Given the description of an element on the screen output the (x, y) to click on. 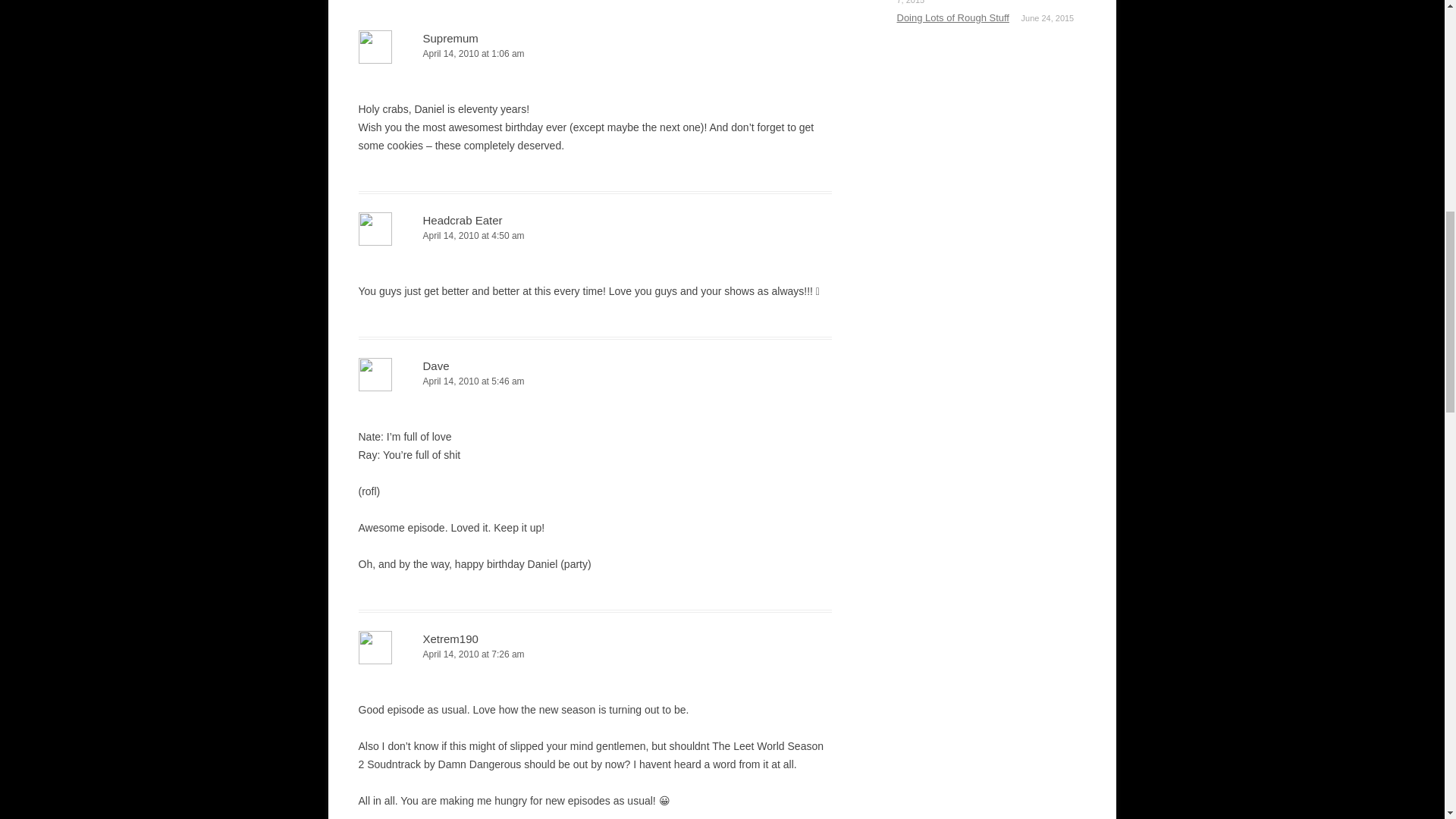
April 14, 2010 at 7:26 am (594, 654)
April 14, 2010 at 1:06 am (594, 53)
April 14, 2010 at 4:50 am (594, 236)
April 14, 2010 at 5:46 am (594, 381)
